Given the description of an element on the screen output the (x, y) to click on. 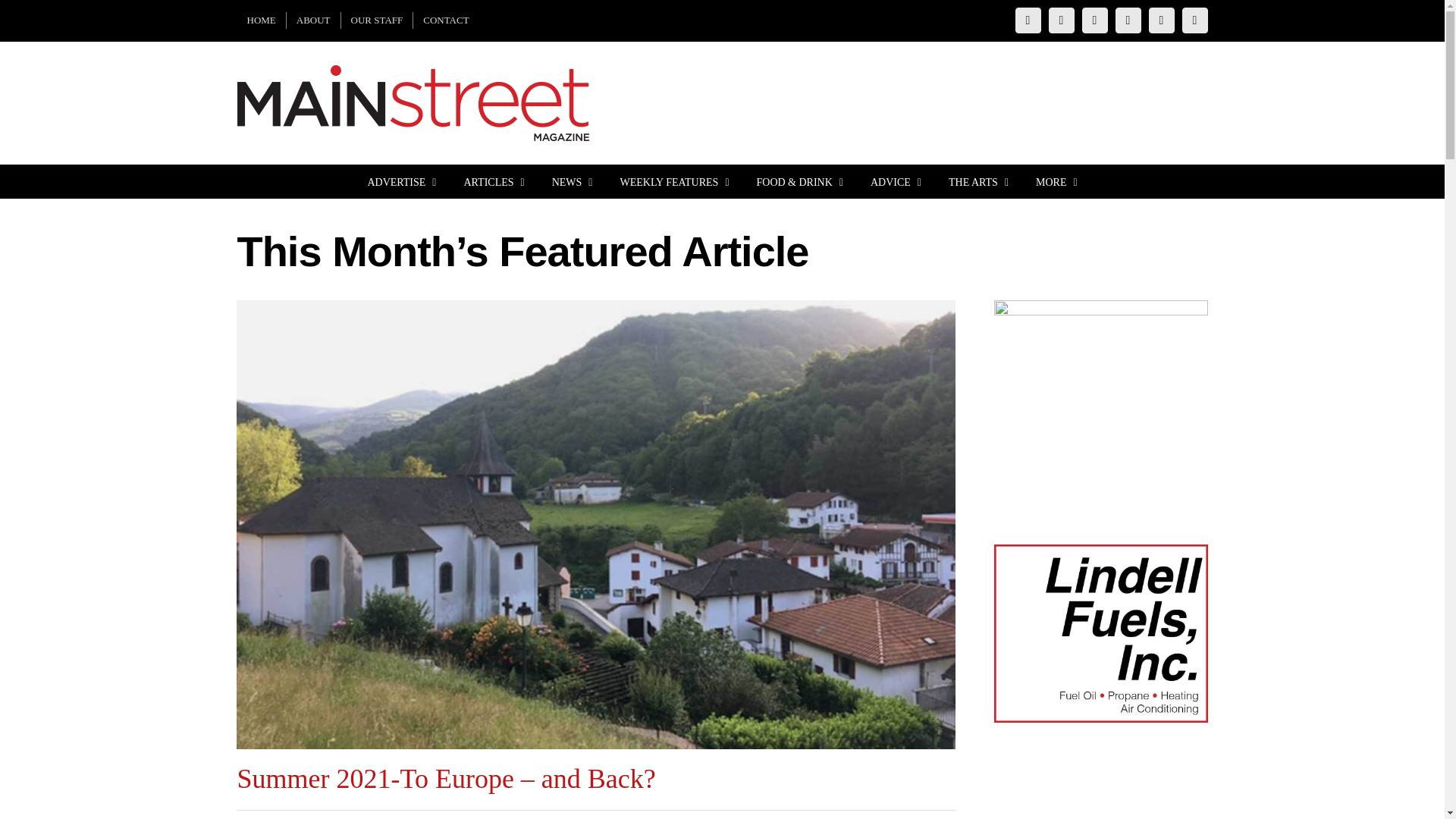
YouTube (1128, 20)
Spotify (1195, 20)
OUR STAFF (376, 20)
YouTube (1128, 20)
CONTACT (446, 20)
NEWS (571, 181)
Instagram (1061, 20)
Instagram (1061, 20)
Spotify (1195, 20)
